Given the description of an element on the screen output the (x, y) to click on. 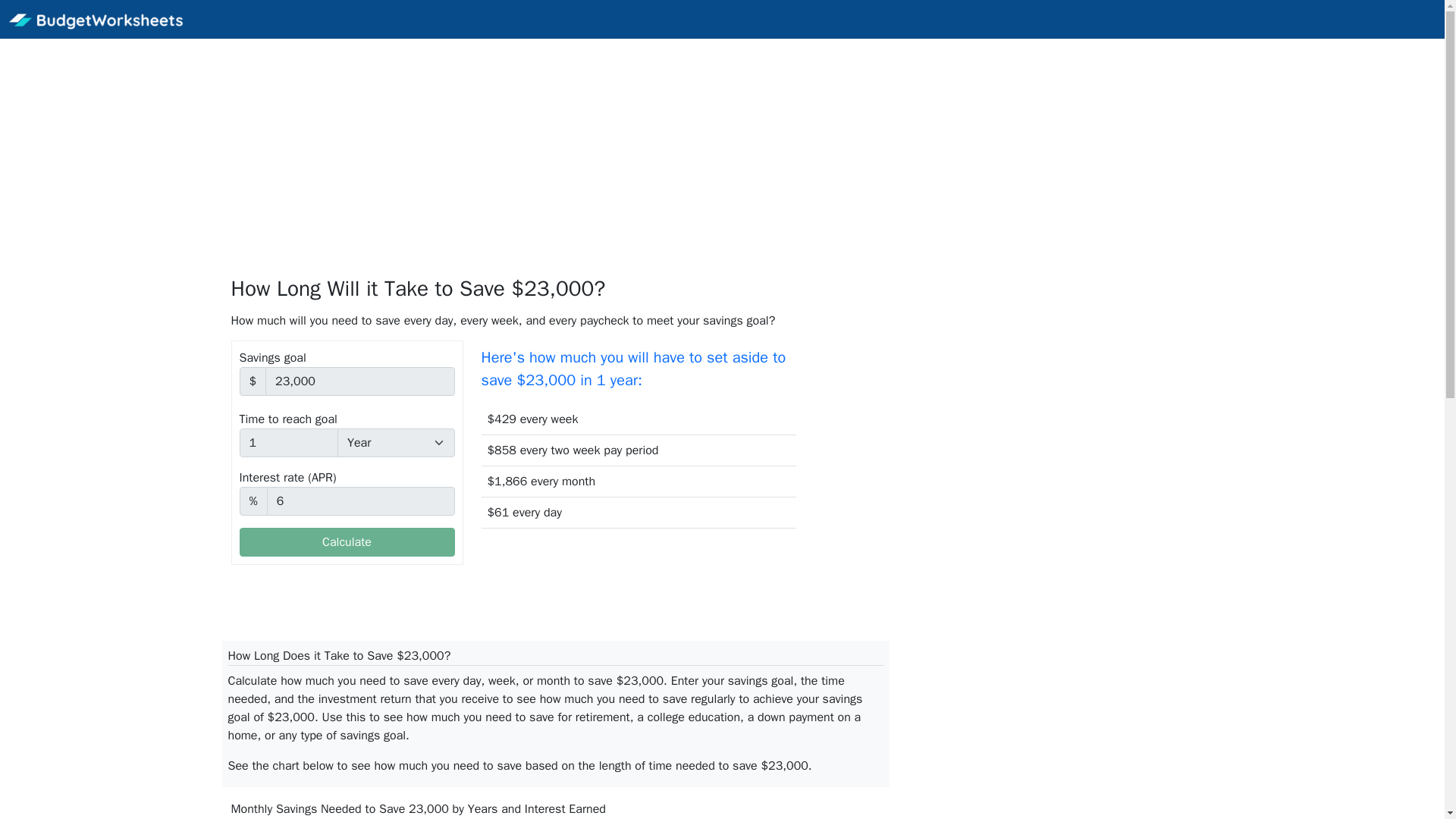
1 (289, 442)
Advertisement (972, 446)
23,000 (359, 380)
6 (360, 500)
Calculate (347, 541)
